Given the description of an element on the screen output the (x, y) to click on. 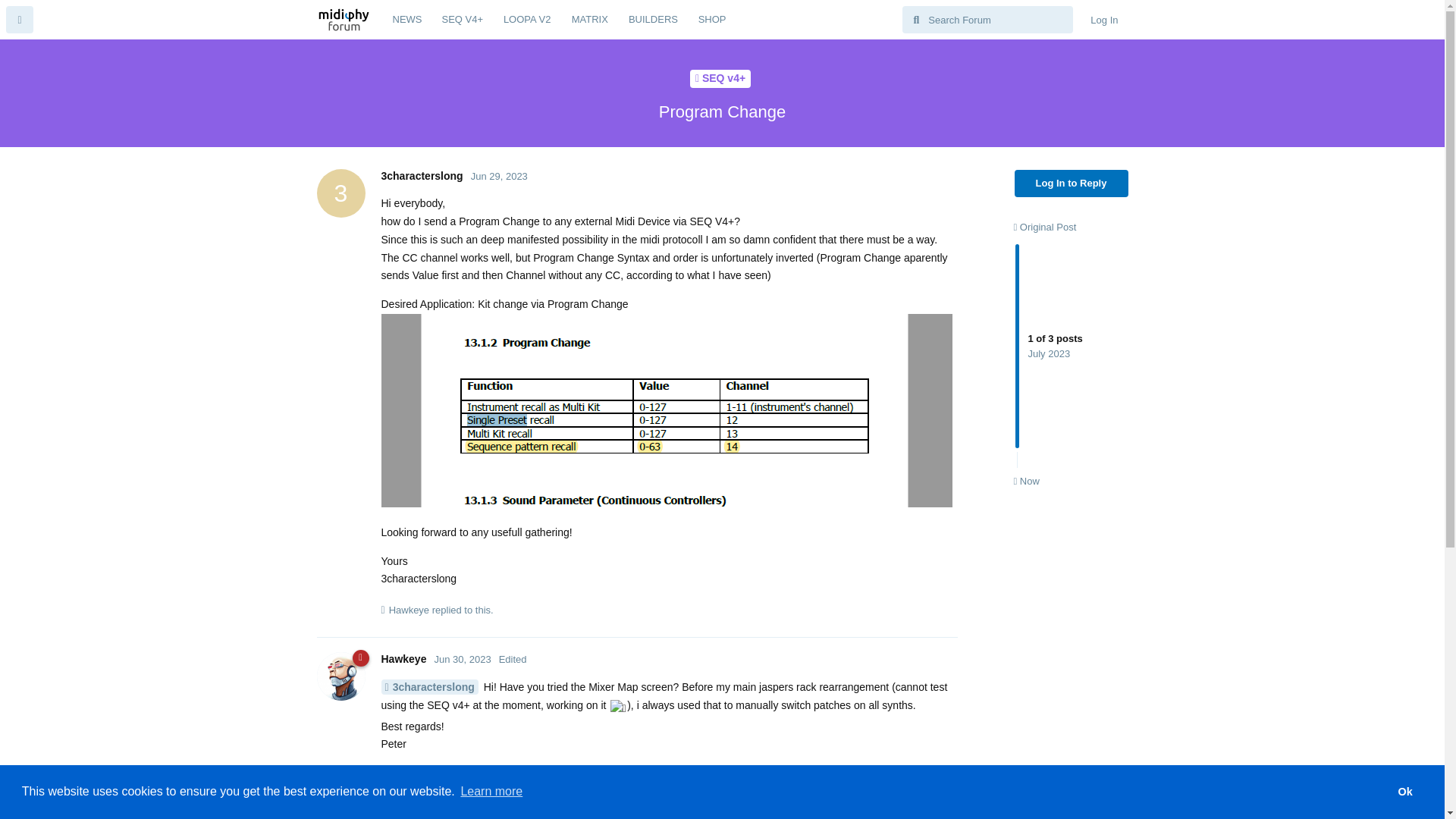
Jun 30, 2023 (461, 659)
Ok (1404, 791)
Hawkeye (403, 658)
IMPRINT (1353, 807)
SHOP (1405, 807)
Now (712, 19)
LOOPA V2 (1071, 353)
NEWS (1026, 480)
Log In (526, 19)
TERMS (405, 19)
LOOPA V2 (1103, 19)
MATRIX (1304, 807)
